Given the description of an element on the screen output the (x, y) to click on. 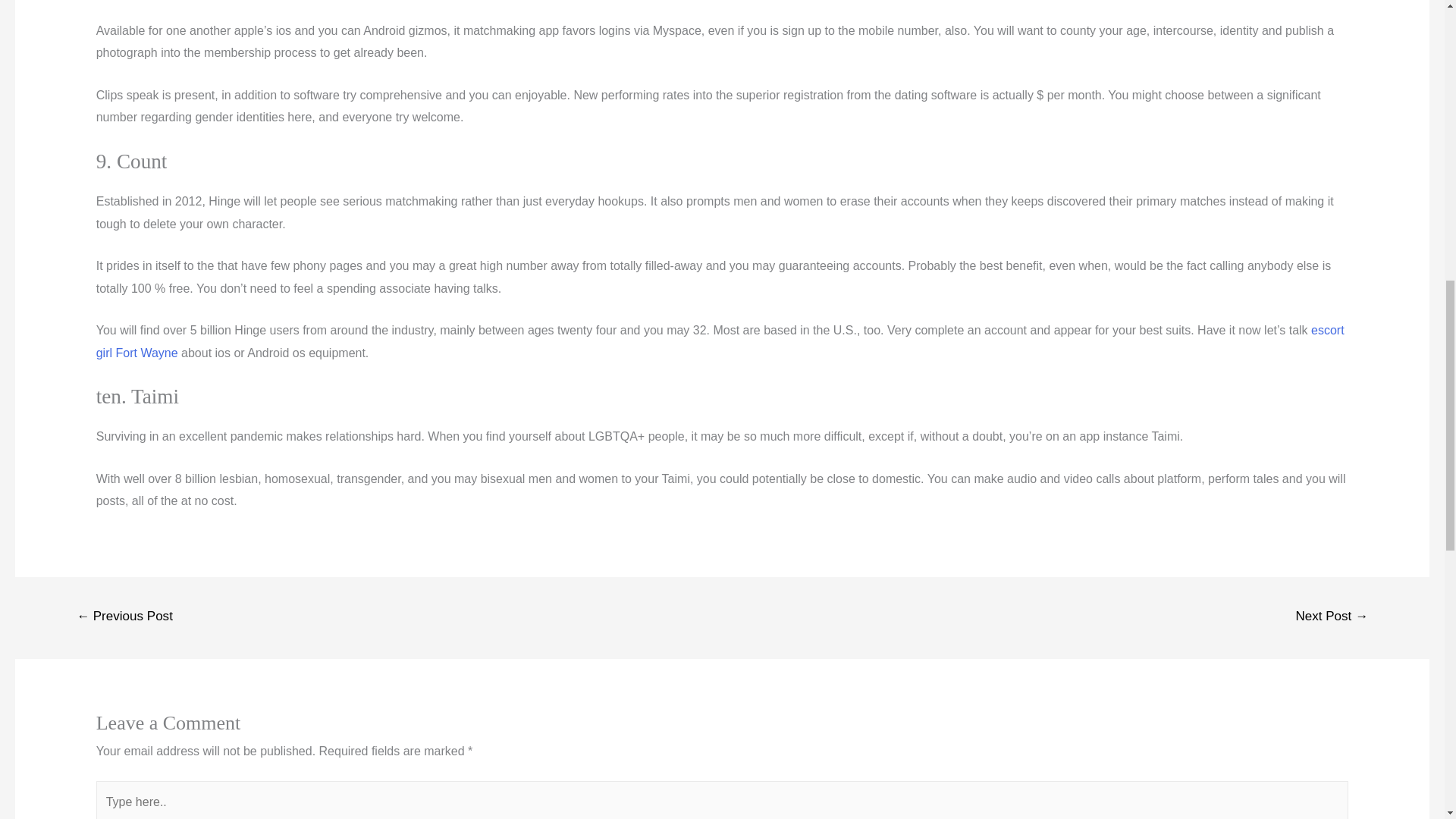
escort girl Fort Wayne (719, 341)
